Given the description of an element on the screen output the (x, y) to click on. 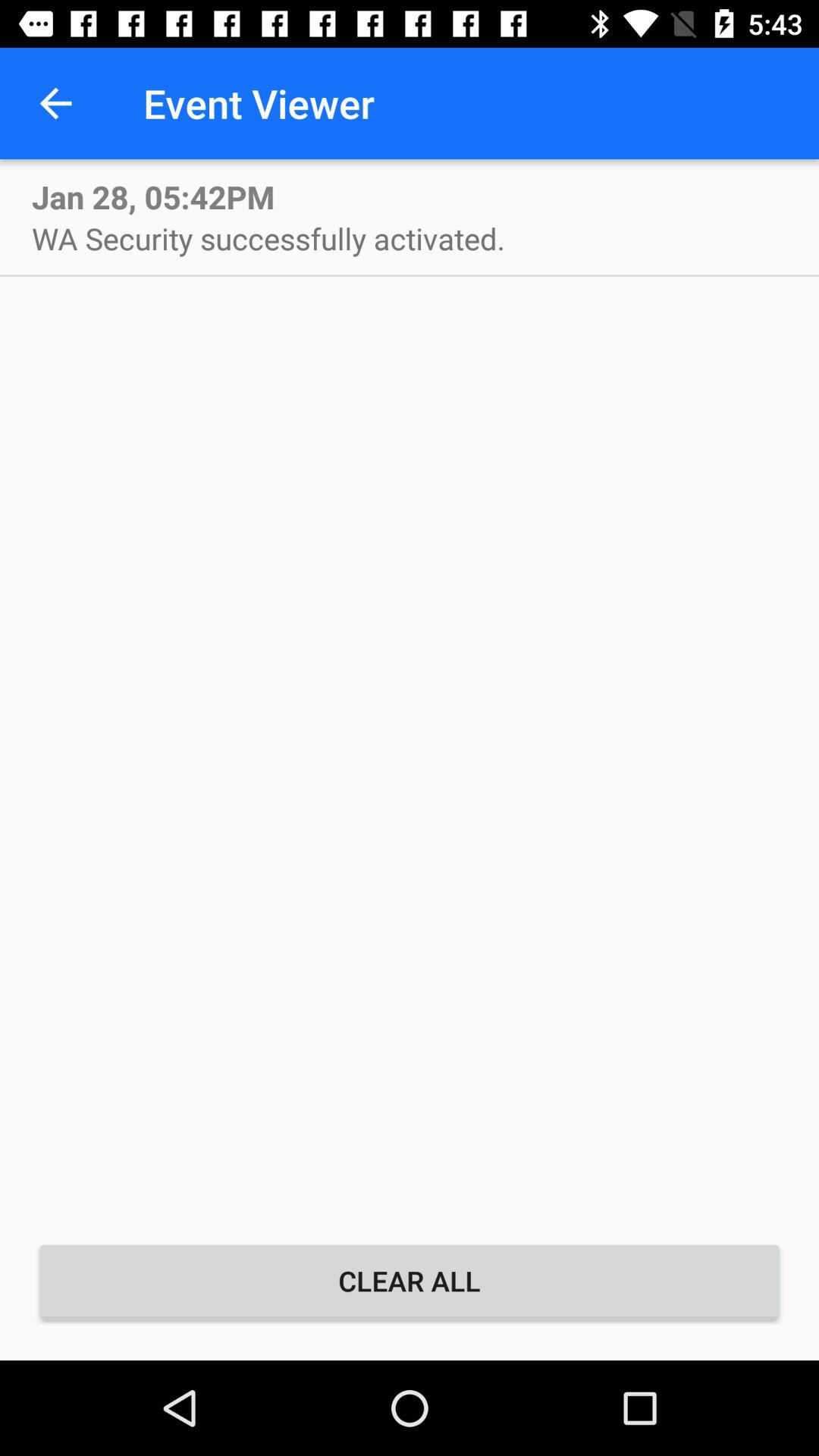
turn on item to the left of event viewer icon (55, 103)
